Given the description of an element on the screen output the (x, y) to click on. 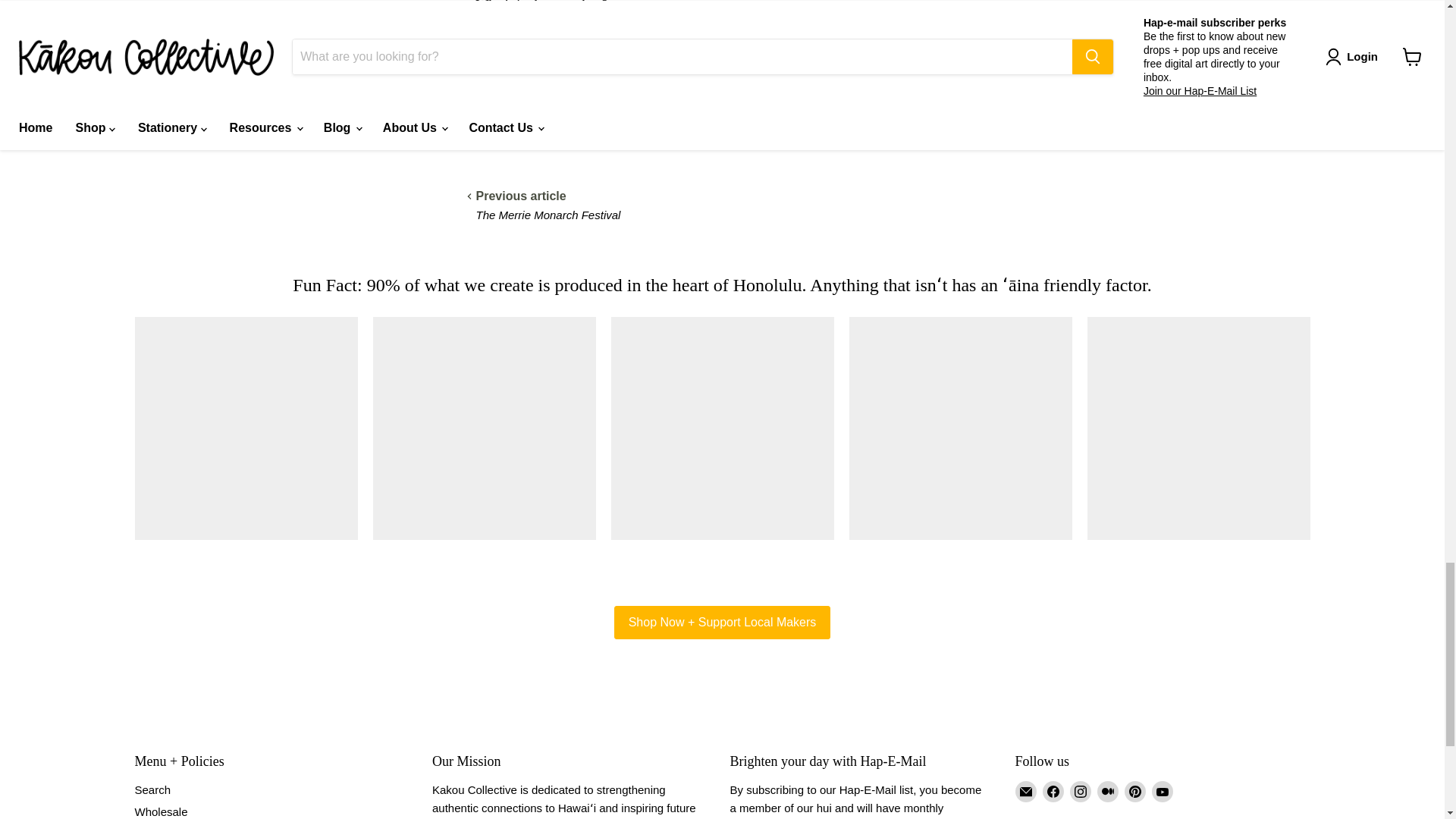
Show articles tagged events (534, 132)
YouTube (1161, 791)
Medium (1107, 791)
Email (1024, 791)
Facebook (1052, 791)
Instagram (1079, 791)
Pinterest (1134, 791)
Show articles tagged Workshop (583, 132)
